Given the description of an element on the screen output the (x, y) to click on. 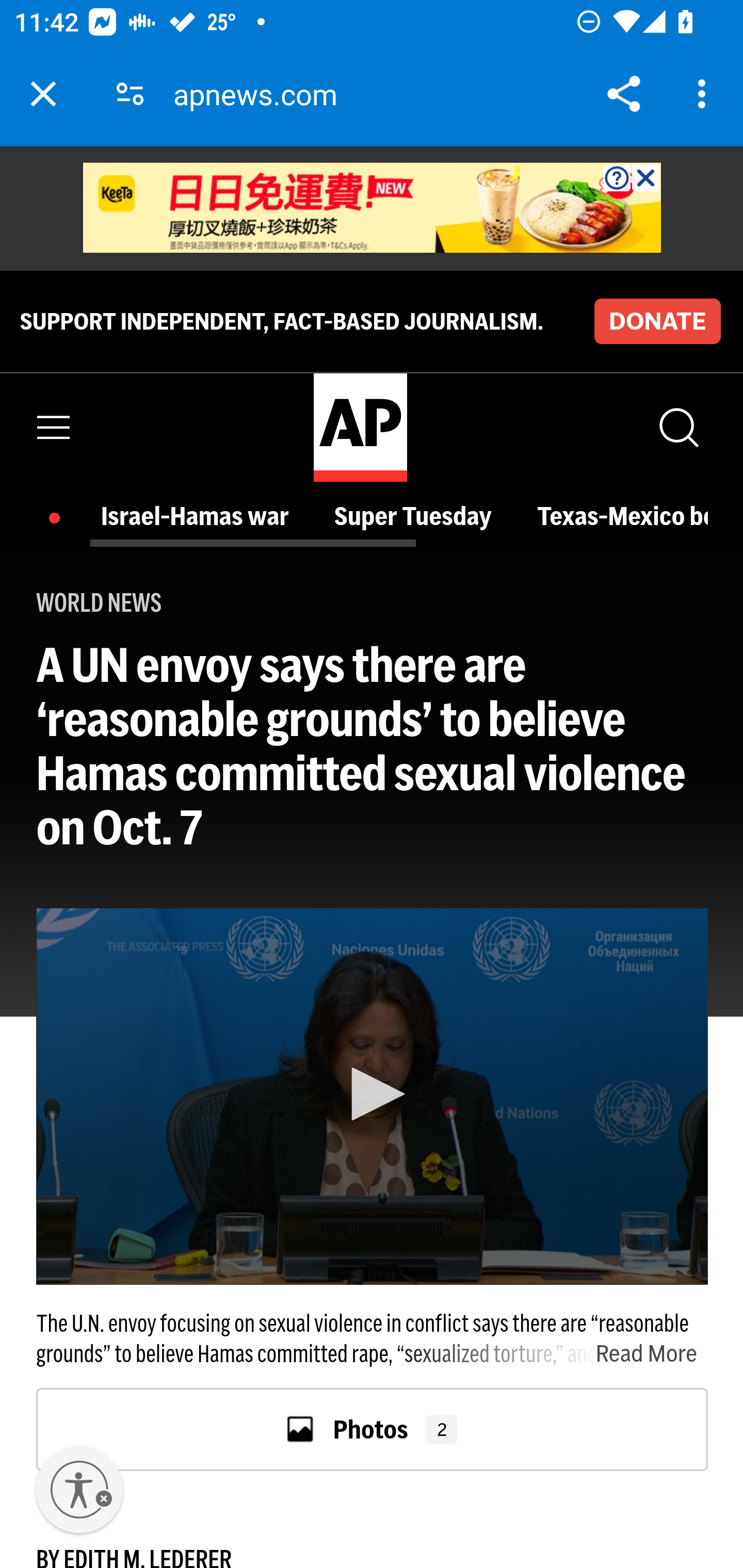
Close tab (43, 93)
Share (623, 93)
Customize and control Google Chrome (705, 93)
Connection is secure (129, 93)
apnews.com (262, 93)
o86KnEM_1693809293728_0 (372, 208)
DONATE (657, 320)
home page AP Logo (359, 426)
Menu (54, 427)
Show Search (677, 427)
Israel-Hamas war (200, 516)
Super Tuesday (417, 516)
Texas-Mexico border (622, 516)
WORLD NEWS (99, 602)
Play (371, 1094)
Photos 2 (372, 1428)
Enable accessibility (79, 1490)
